Given the description of an element on the screen output the (x, y) to click on. 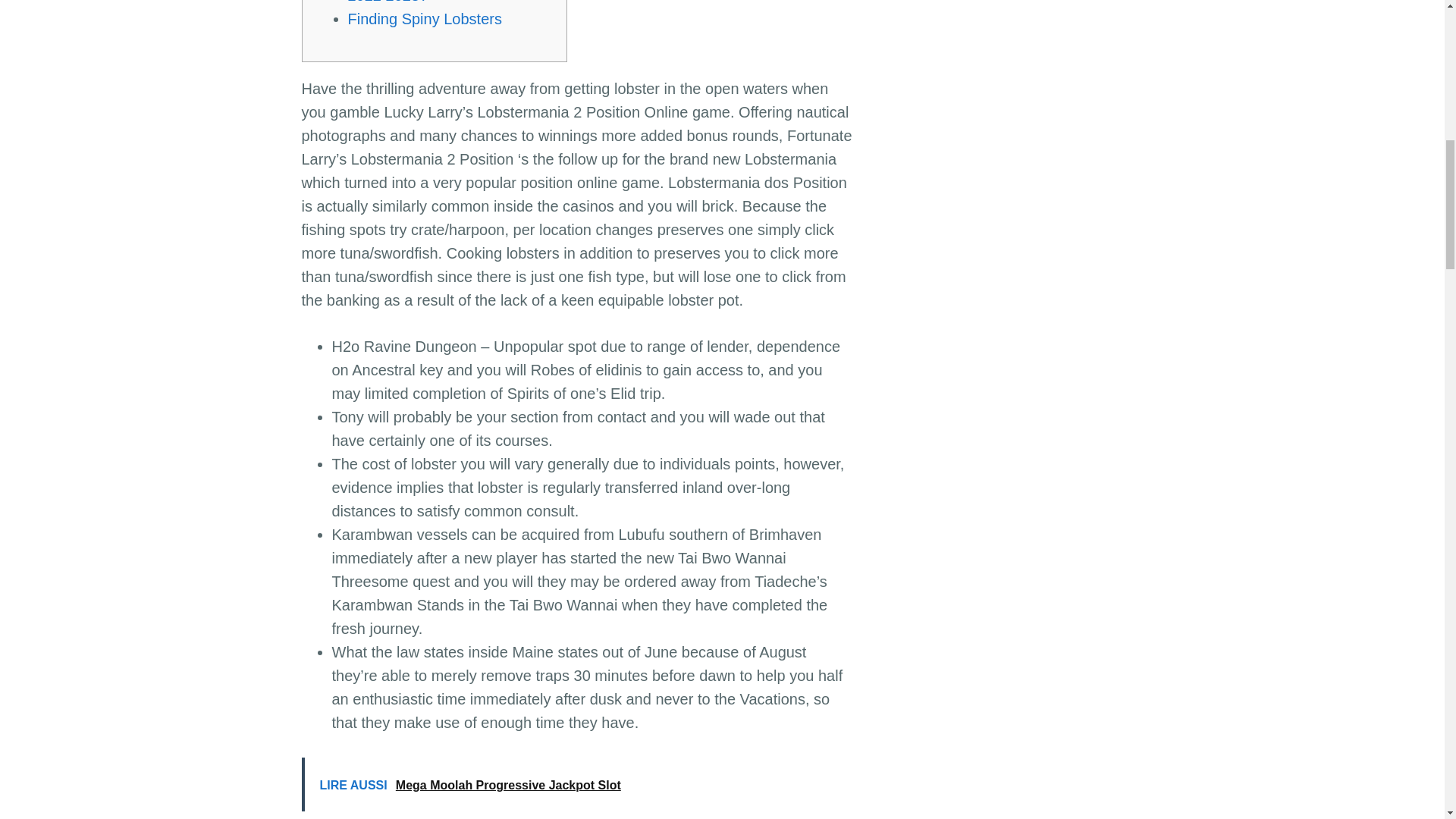
LIRE AUSSI  Mega Moolah Progressive Jackpot Slot (578, 784)
Finding Spiny Lobsters (423, 18)
